Given the description of an element on the screen output the (x, y) to click on. 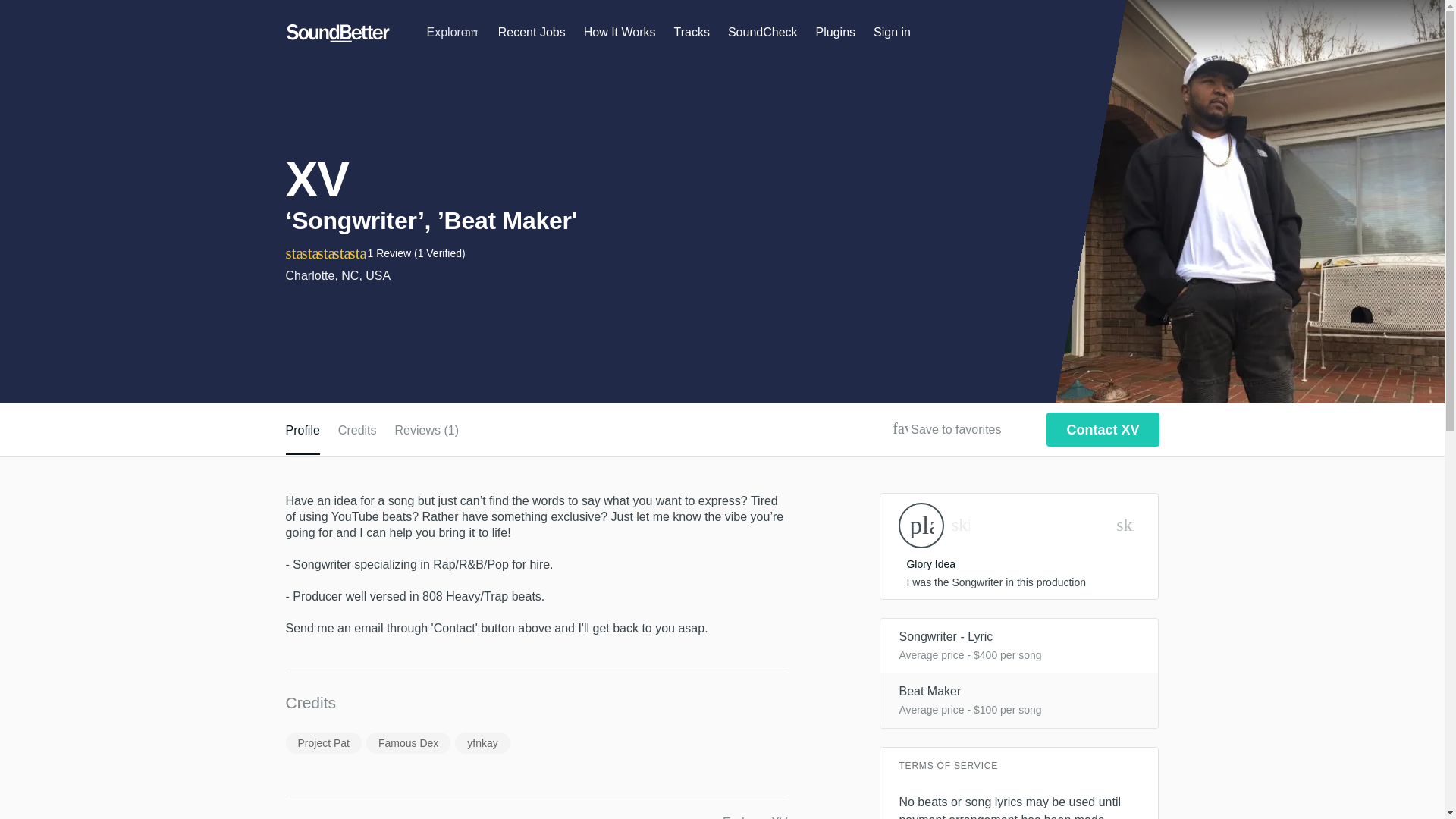
SoundBetter (337, 33)
